Given the description of an element on the screen output the (x, y) to click on. 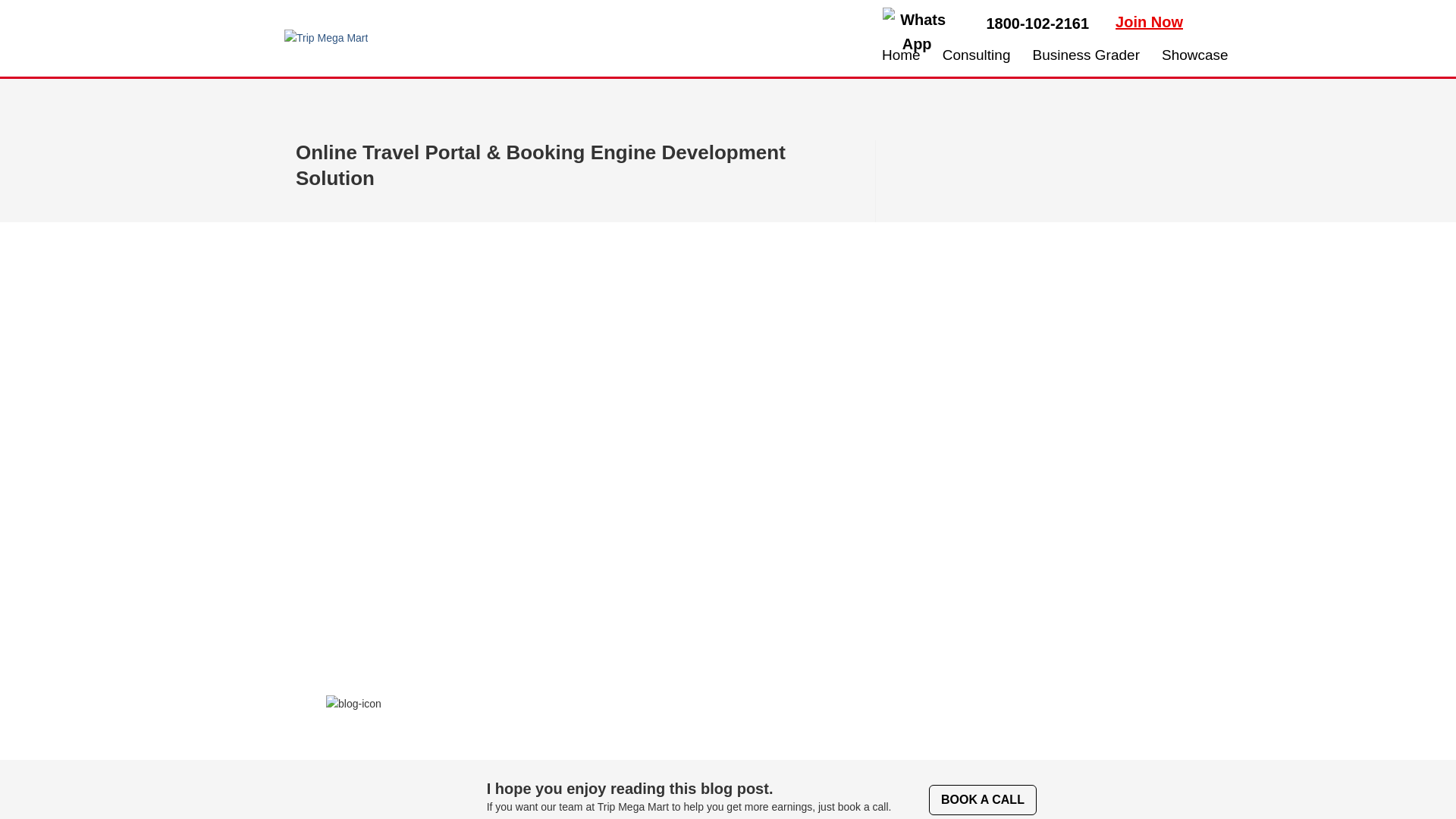
Business Grader (1086, 55)
Consulting (976, 55)
1800-102-2161 (1037, 23)
Home (901, 55)
BOOK A CALL (982, 799)
Showcase (1195, 55)
Join Now (1148, 21)
